Given the description of an element on the screen output the (x, y) to click on. 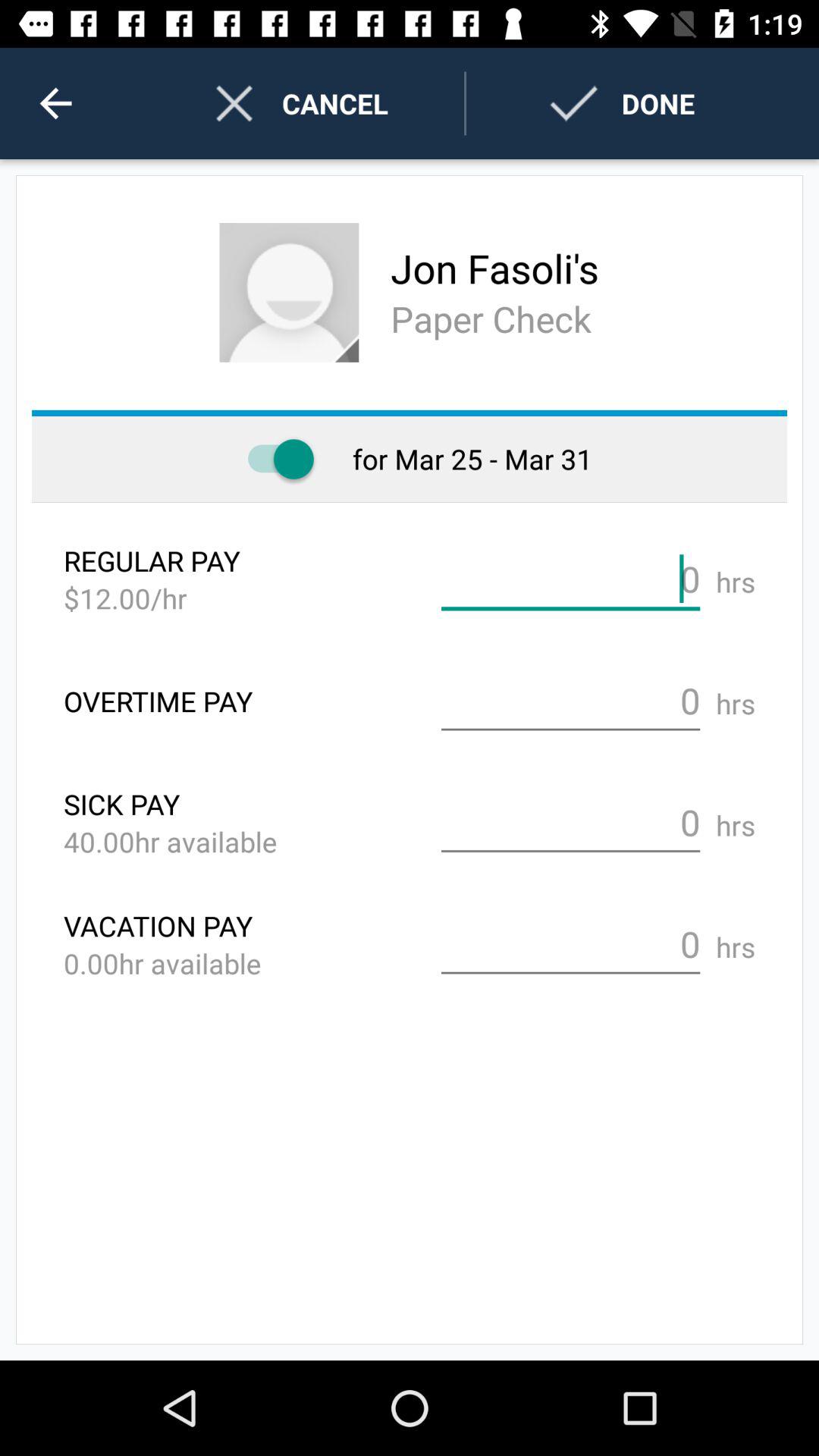
select the item next to the for mar 25 icon (273, 459)
